Given the description of an element on the screen output the (x, y) to click on. 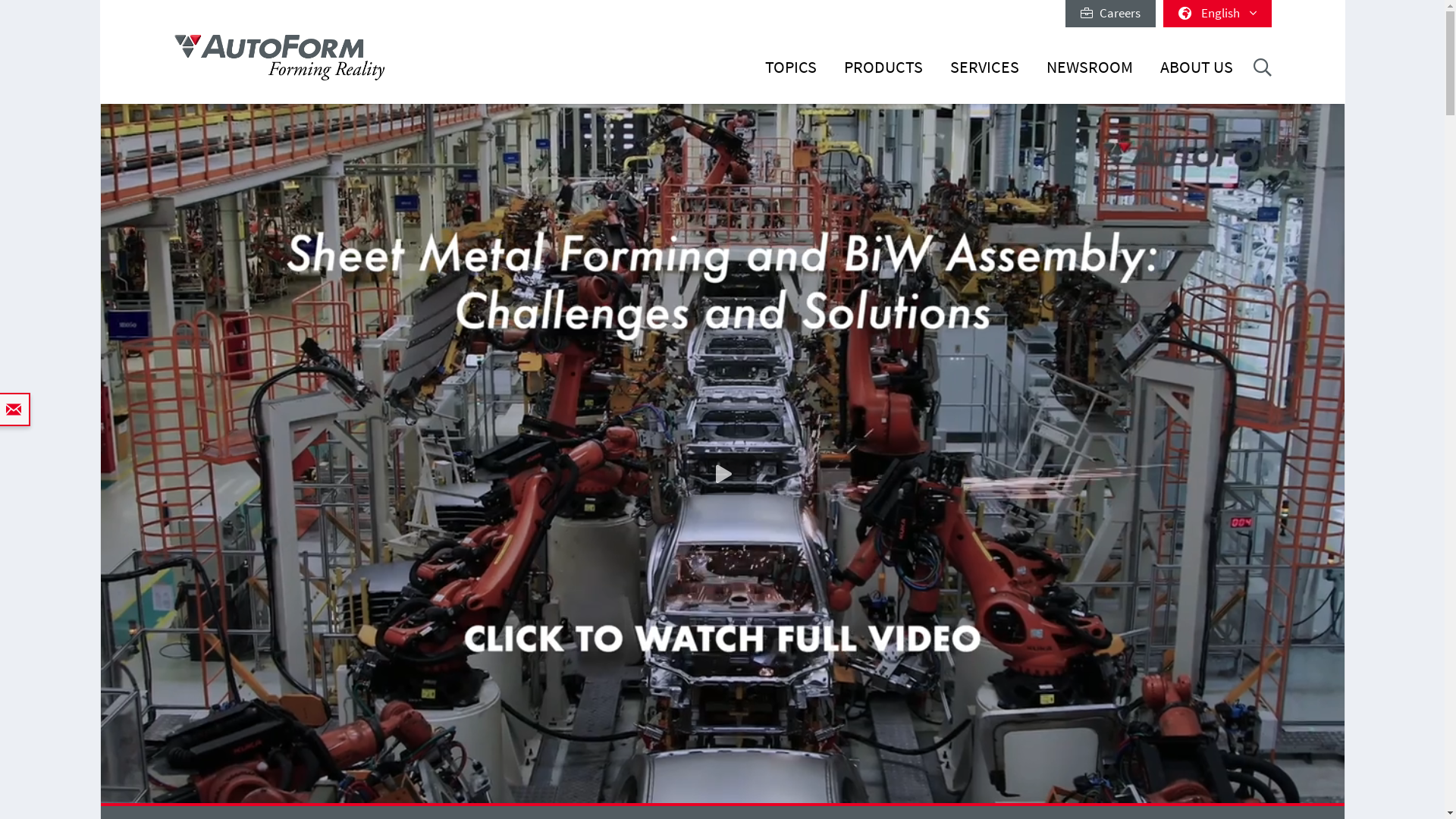
ABOUT US Element type: text (1196, 75)
SERVICES Element type: text (984, 75)
NEWSROOM Element type: text (1089, 75)
English Element type: text (1217, 13)
PRODUCTS Element type: text (883, 75)
AutoForm Engineering Element type: hover (278, 57)
  Careers Element type: text (1109, 13)
TOPICS Element type: text (790, 75)
